Given the description of an element on the screen output the (x, y) to click on. 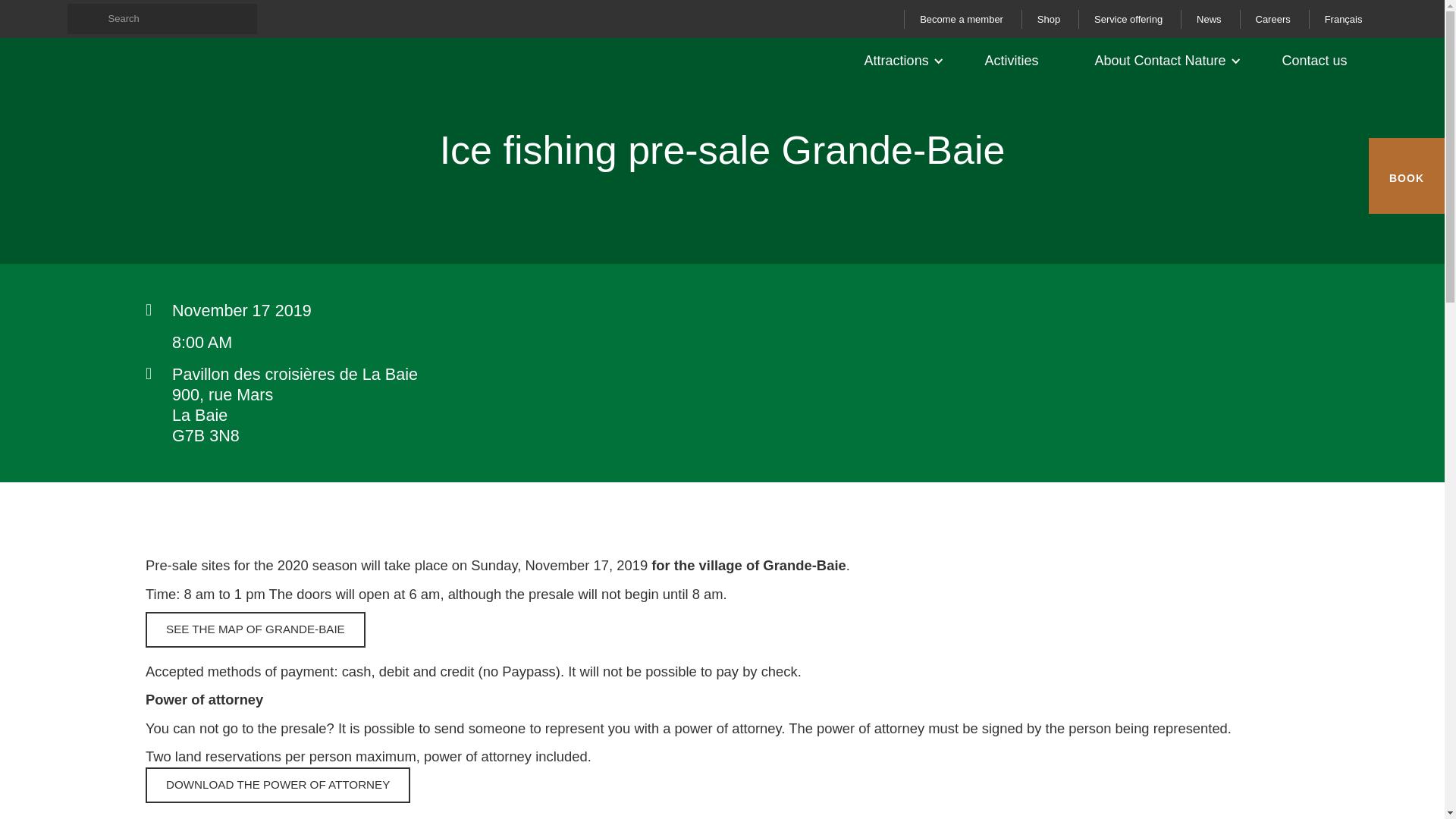
Service offering (1127, 18)
News (1208, 18)
SEE THE MAP OF GRANDE-BAIE (255, 629)
Contact us (1318, 60)
Become a member (960, 18)
Activities (1015, 60)
Shop (1048, 18)
Careers (1271, 18)
DOWNLOAD THE POWER OF ATTORNEY (277, 785)
